Given the description of an element on the screen output the (x, y) to click on. 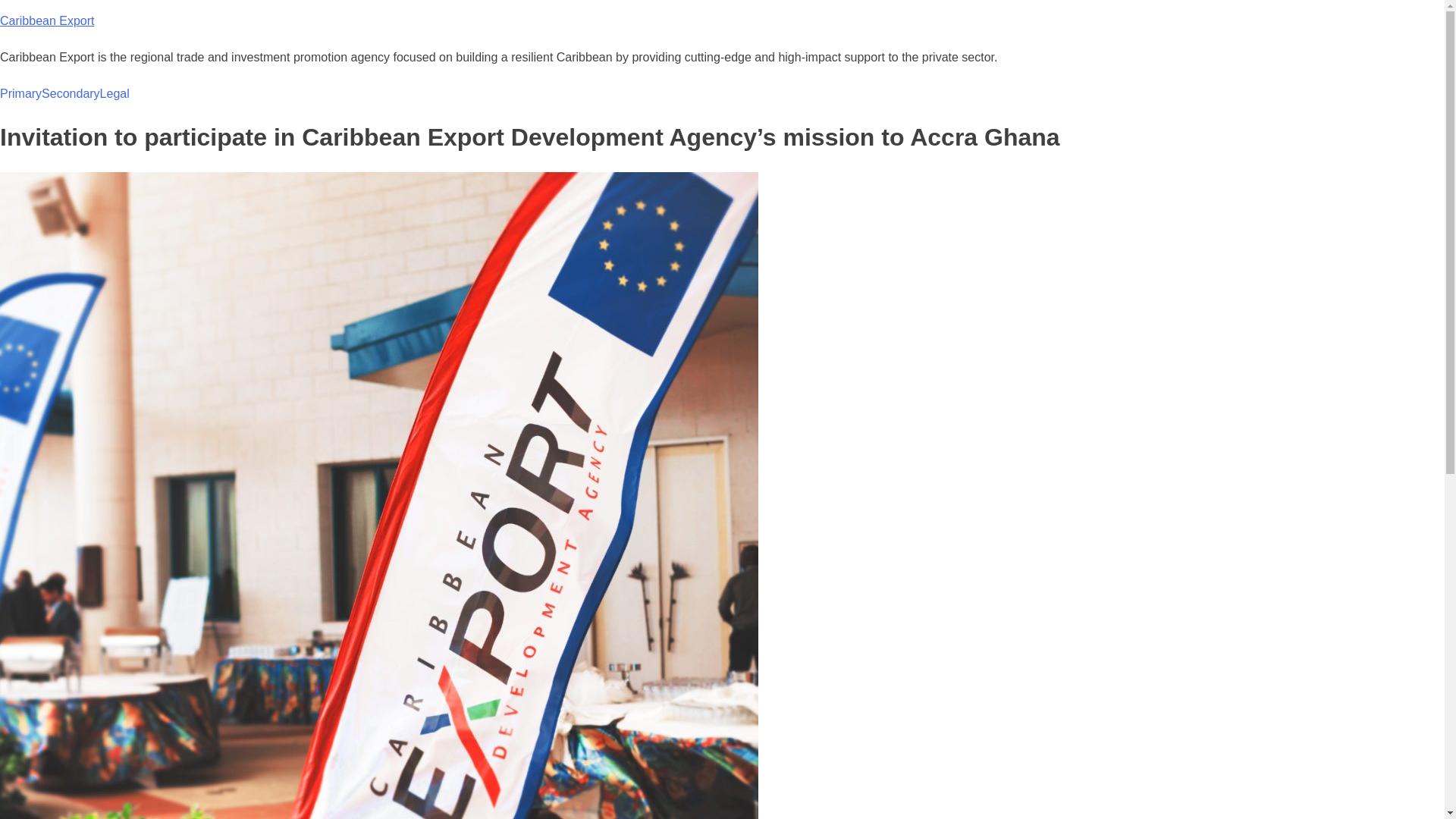
Secondary (71, 94)
Primary (21, 94)
Legal (114, 94)
Caribbean Export (47, 20)
